Given the description of an element on the screen output the (x, y) to click on. 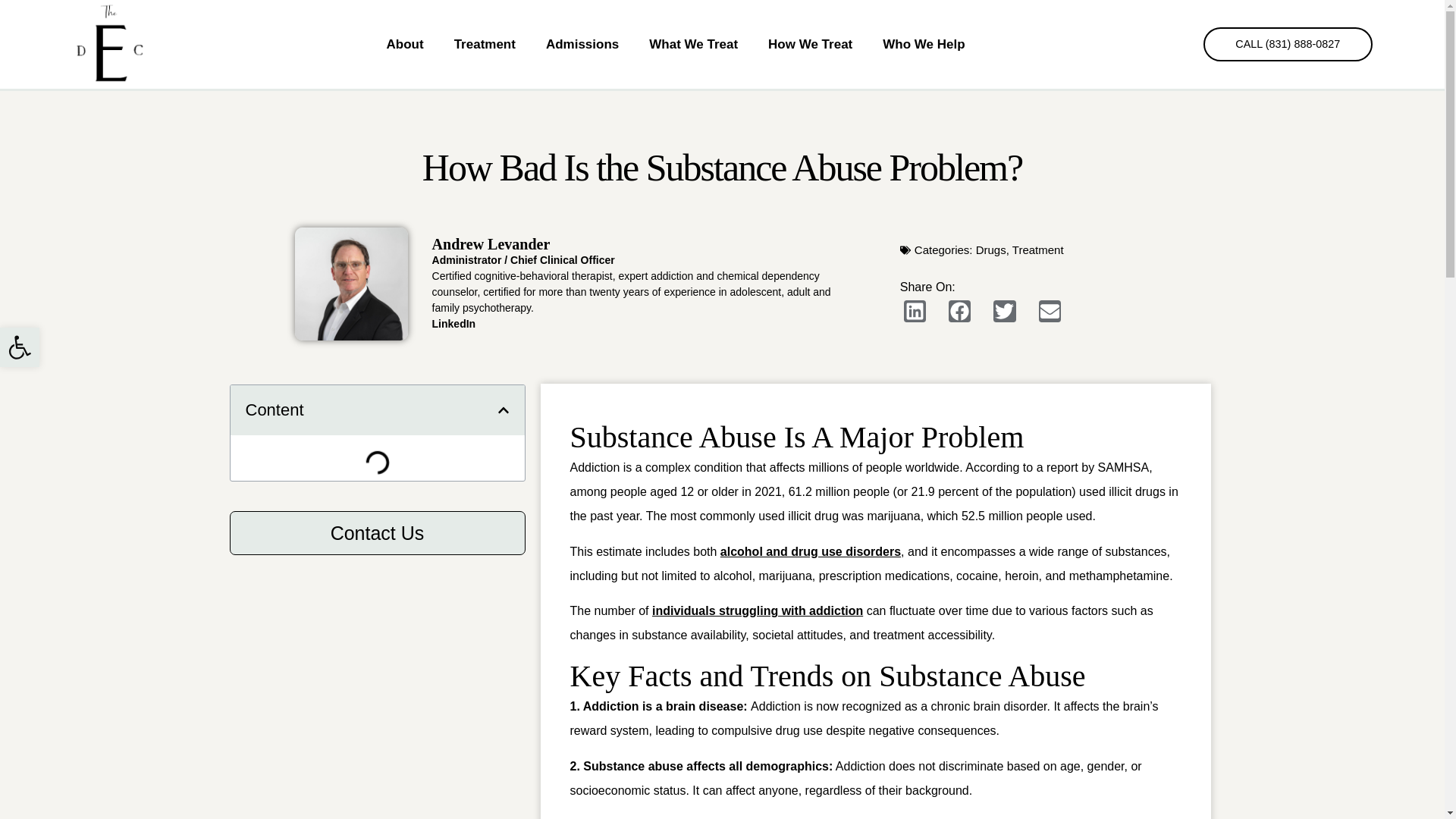
How We Treat (809, 44)
What We Treat (692, 44)
About (405, 44)
Treatment (19, 346)
Readable Font (485, 44)
